Given the description of an element on the screen output the (x, y) to click on. 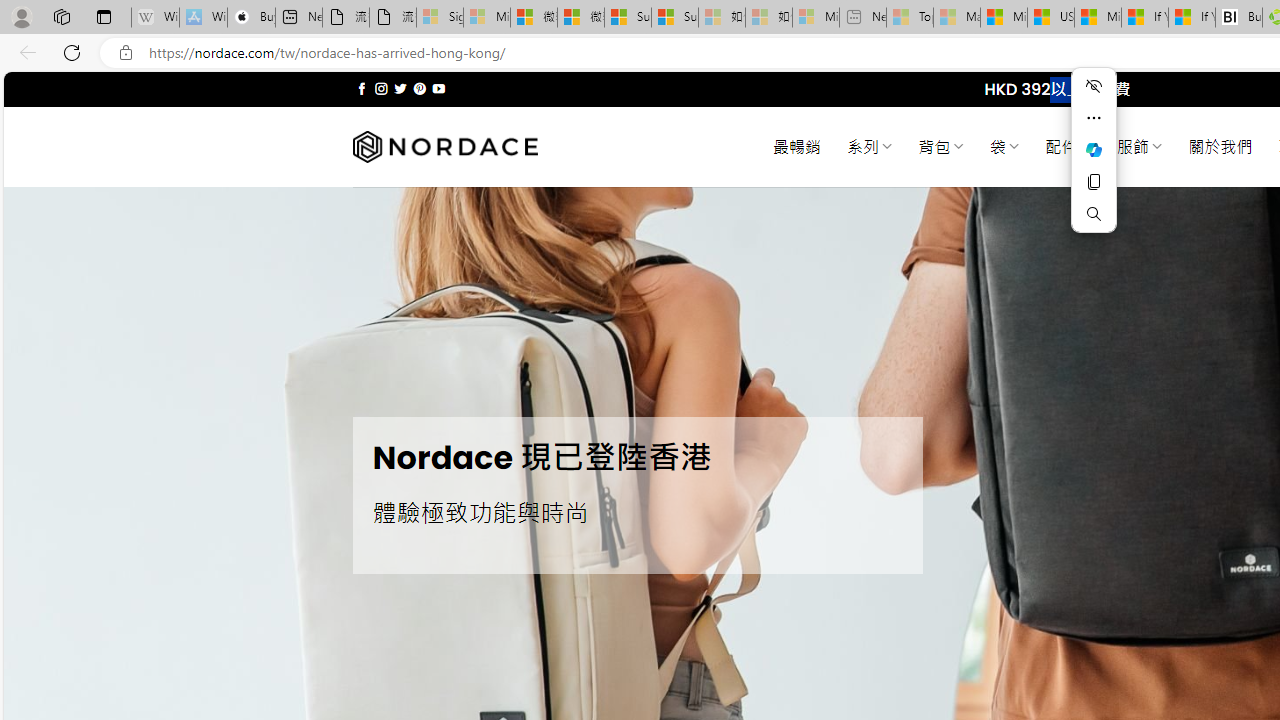
Follow on Pinterest (419, 88)
Top Stories - MSN - Sleeping (910, 17)
Microsoft account | Account Checkup - Sleeping (815, 17)
Ask Copilot (1094, 149)
